Given the description of an element on the screen output the (x, y) to click on. 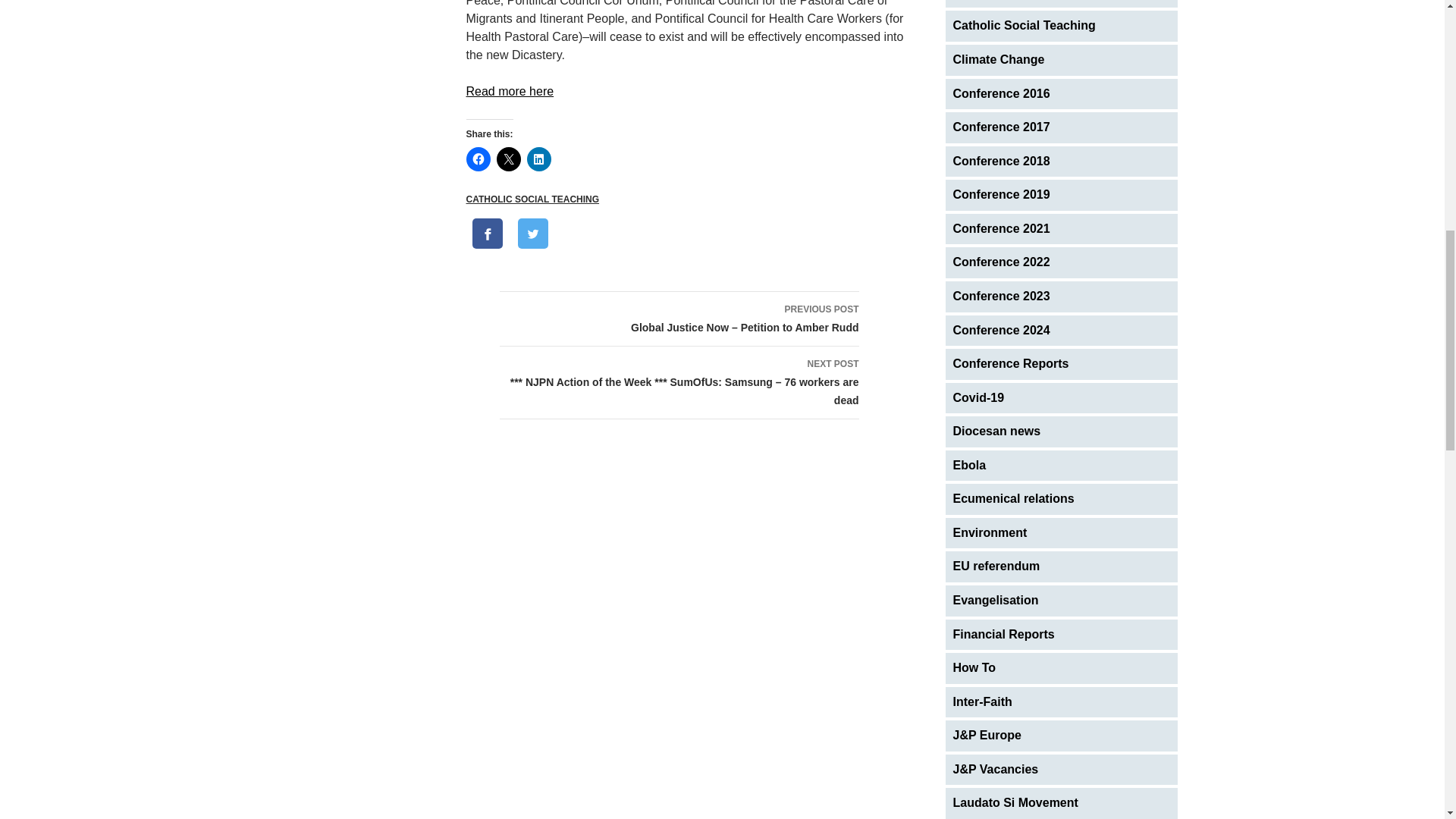
Campaigns (1060, 4)
Click to share on Facebook (477, 159)
Read more here (509, 91)
Click to share on LinkedIn (537, 159)
Click to share on X (507, 159)
CATHOLIC SOCIAL TEACHING (531, 199)
Catholic Social Teaching (1060, 25)
